Given the description of an element on the screen output the (x, y) to click on. 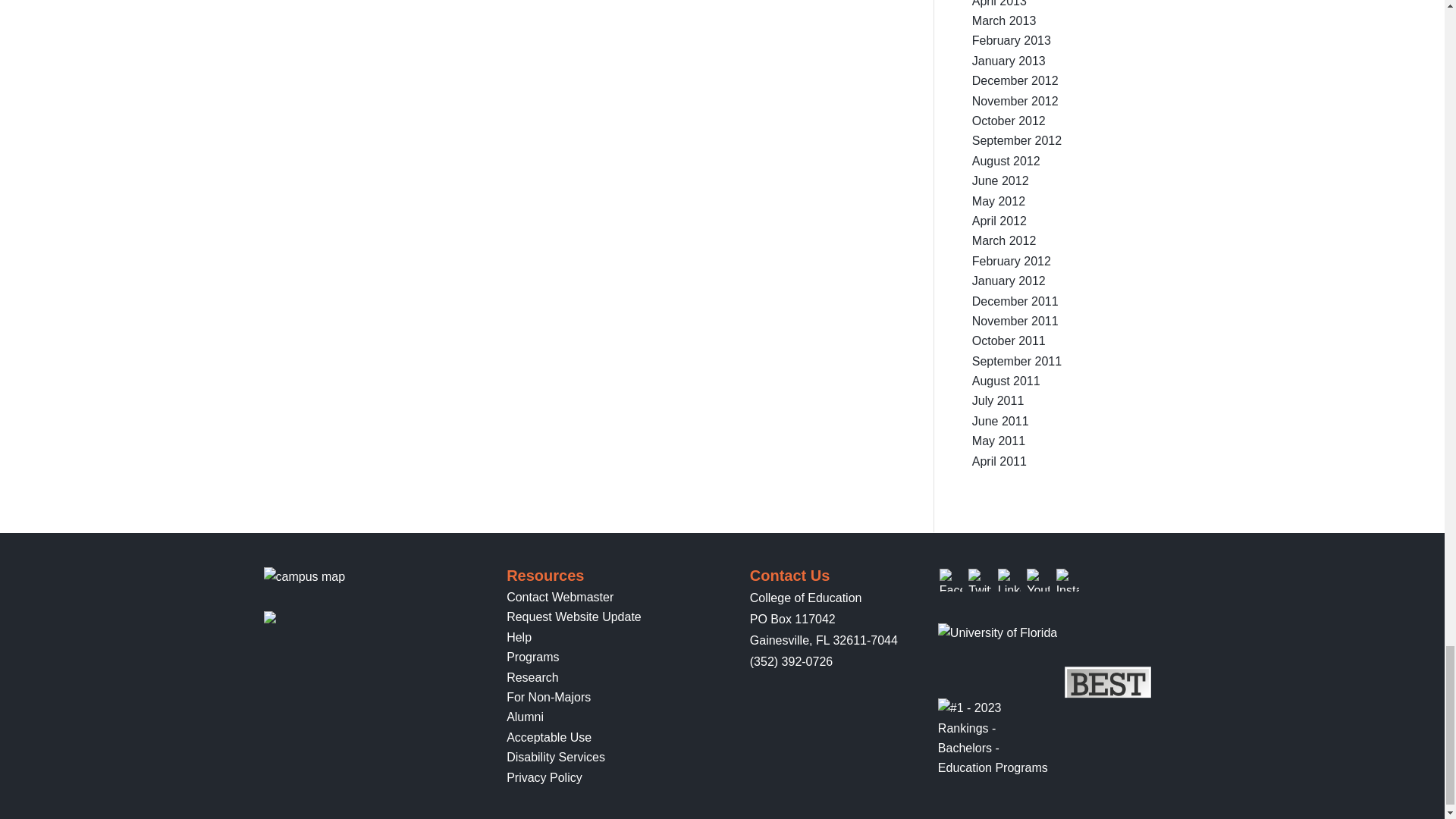
Twitter (979, 579)
CAEP Accreditation (338, 618)
Facebook (950, 579)
LinkedIn (1008, 579)
Instagram (1067, 579)
Youtube (1037, 579)
UF (997, 632)
campus map (304, 577)
